Given the description of an element on the screen output the (x, y) to click on. 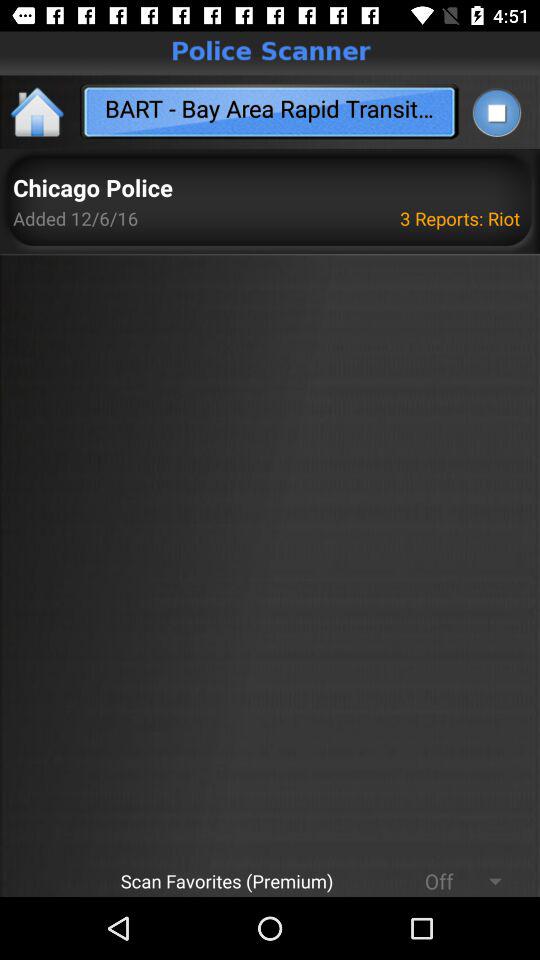
stops scanner feed (496, 111)
